Given the description of an element on the screen output the (x, y) to click on. 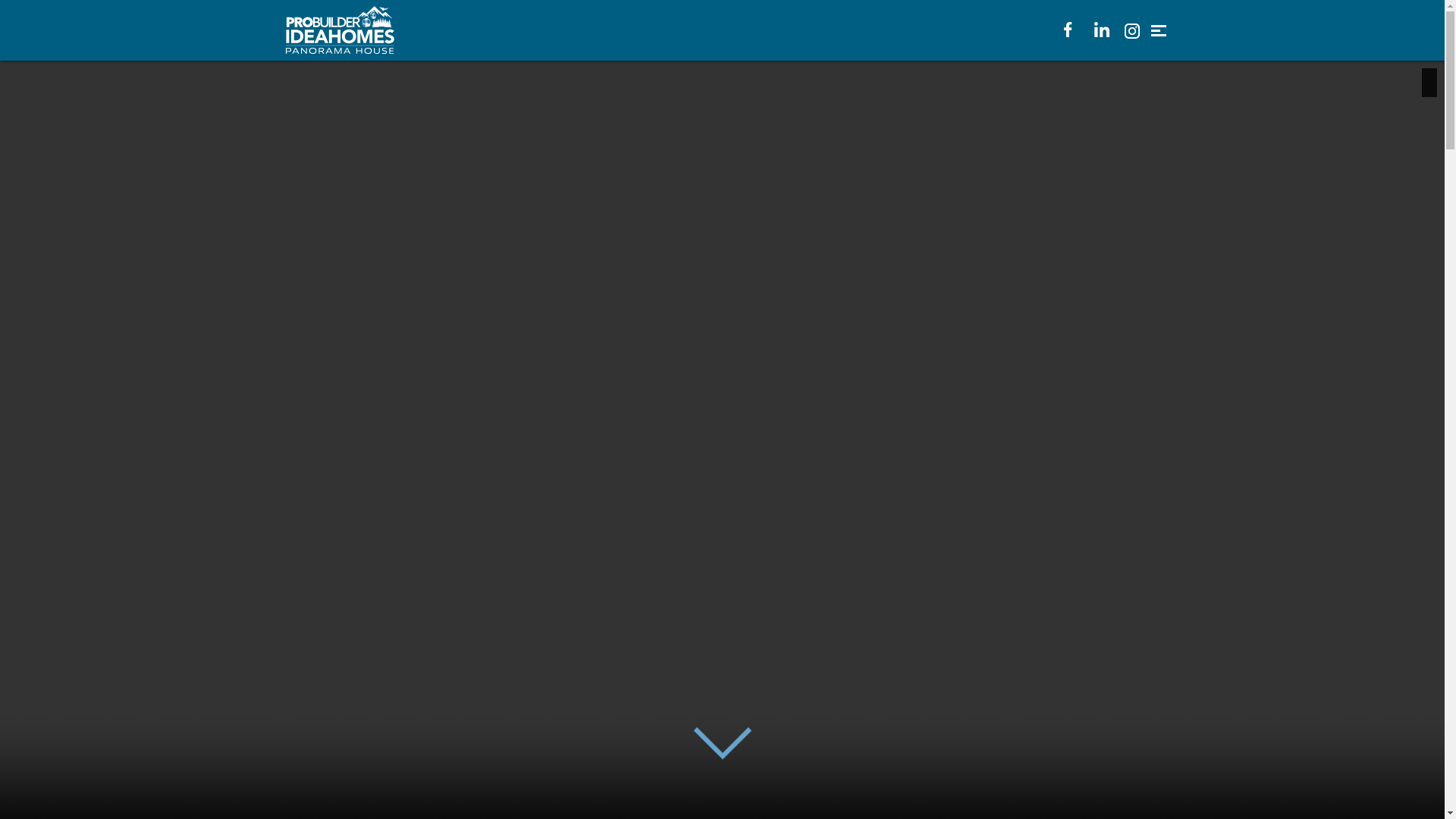
Home (343, 30)
